Given the description of an element on the screen output the (x, y) to click on. 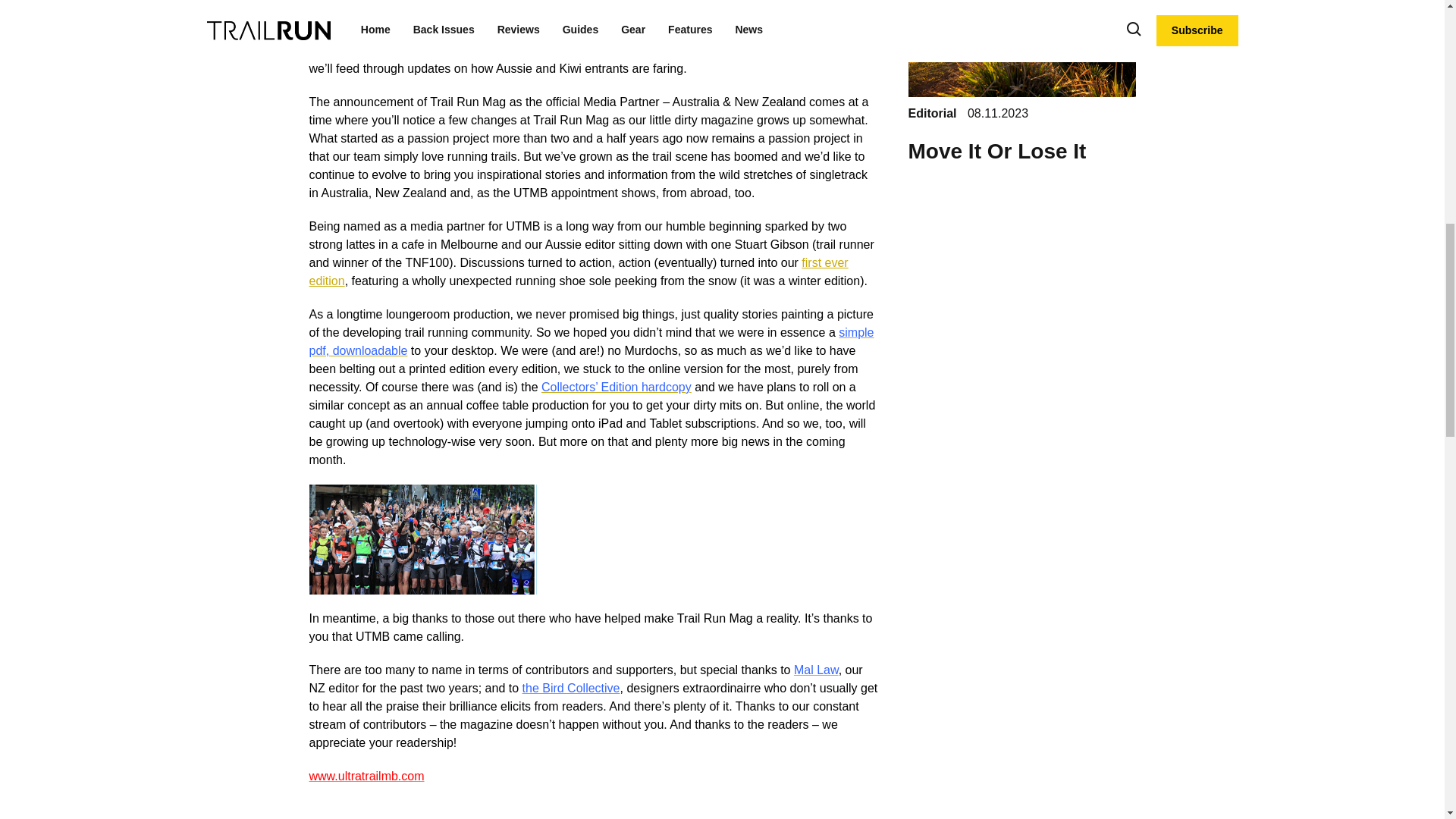
the Bird Collective (571, 687)
simple pdf, downloadable (591, 341)
www.ultratrailmb.com (366, 775)
Mal Law (815, 669)
first ever edition (578, 271)
